Given the description of an element on the screen output the (x, y) to click on. 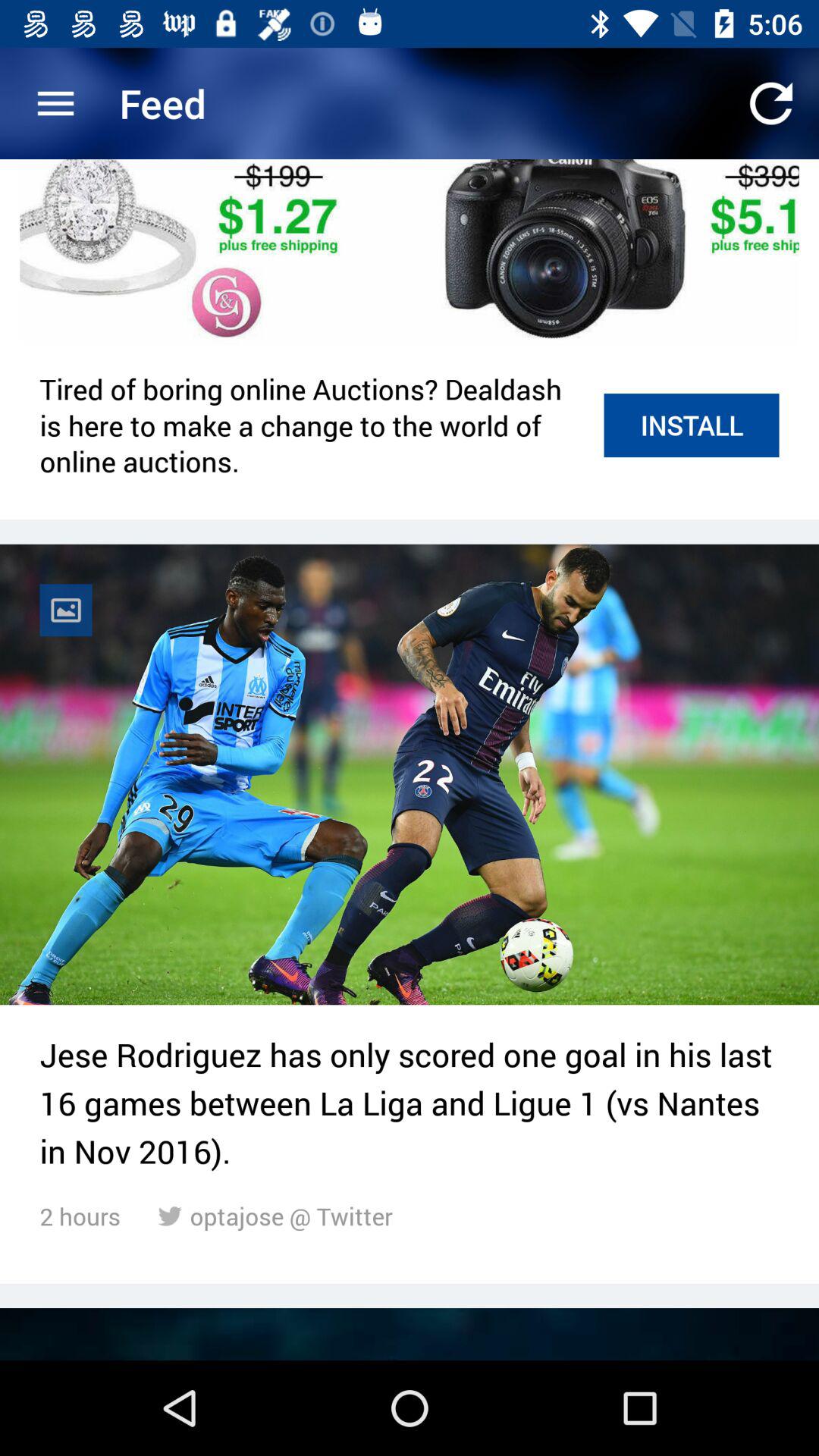
press item to the right of tired of boring (691, 425)
